Given the description of an element on the screen output the (x, y) to click on. 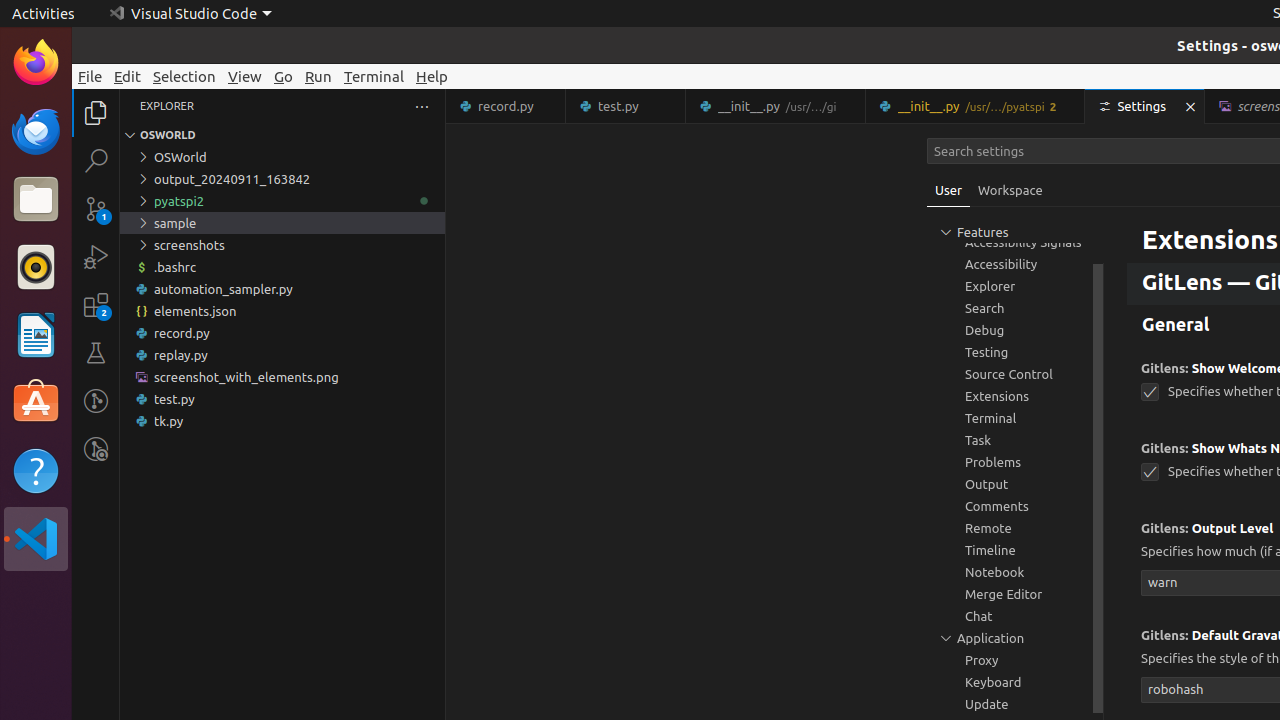
output_20240911_163842 Element type: tree-item (282, 179)
Source Control (Ctrl+Shift+G G) - 1 pending changes Source Control (Ctrl+Shift+G G) - 1 pending changes Element type: page-tab (96, 208)
elements.json Element type: tree-item (282, 311)
